Given the description of an element on the screen output the (x, y) to click on. 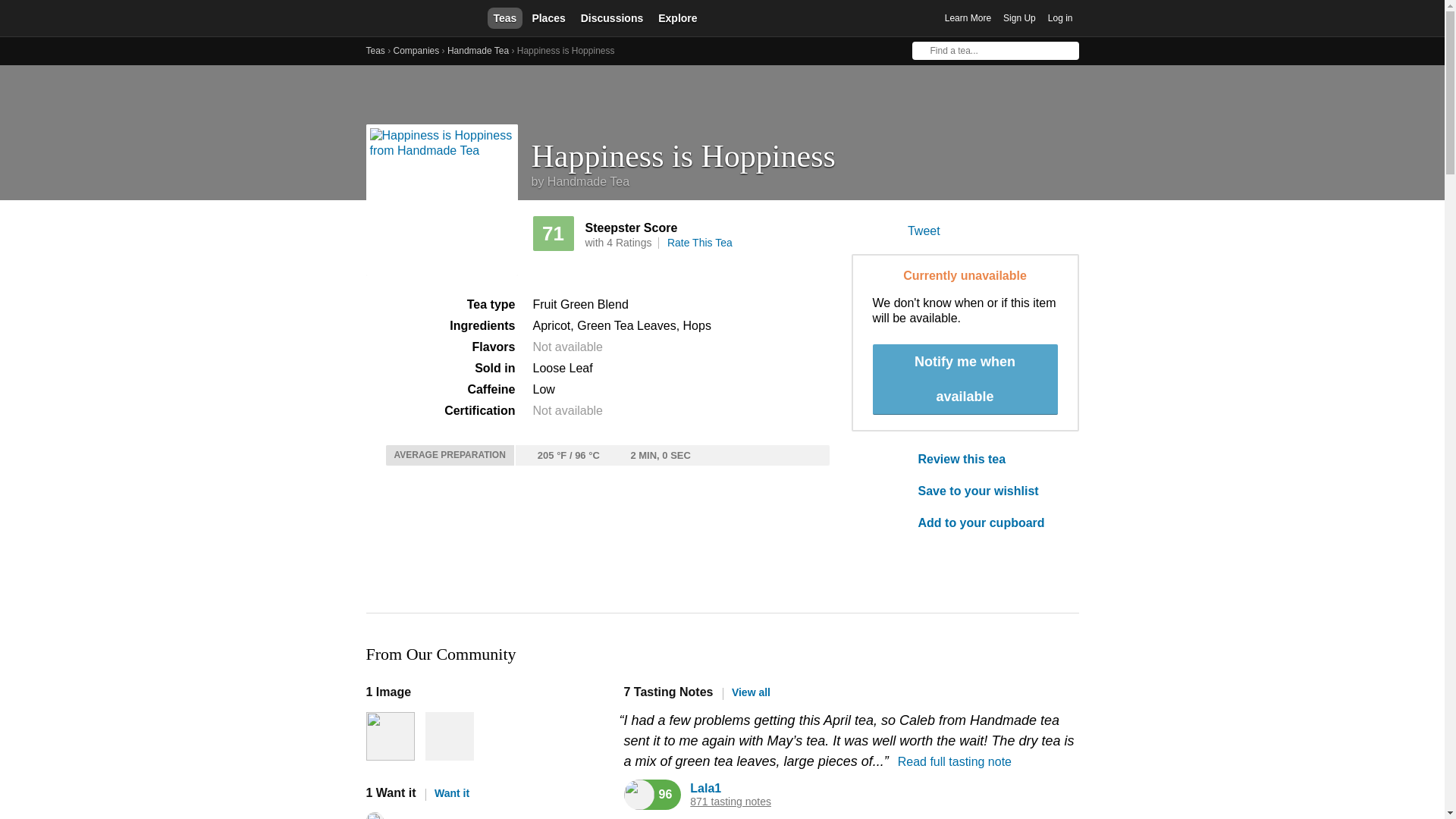
Lala1 (705, 787)
Want it (446, 793)
Explore (677, 17)
Discussions (612, 17)
Happiness is Hoppiness (804, 150)
Places (547, 17)
Tweet (923, 230)
Handmade Tea (477, 50)
by Handmade Tea (579, 181)
Add to your cupboard (986, 522)
Teas (374, 50)
Fruit Green Blend (579, 304)
Learn More (968, 18)
Companies (416, 50)
Save to your wishlist (986, 490)
